Given the description of an element on the screen output the (x, y) to click on. 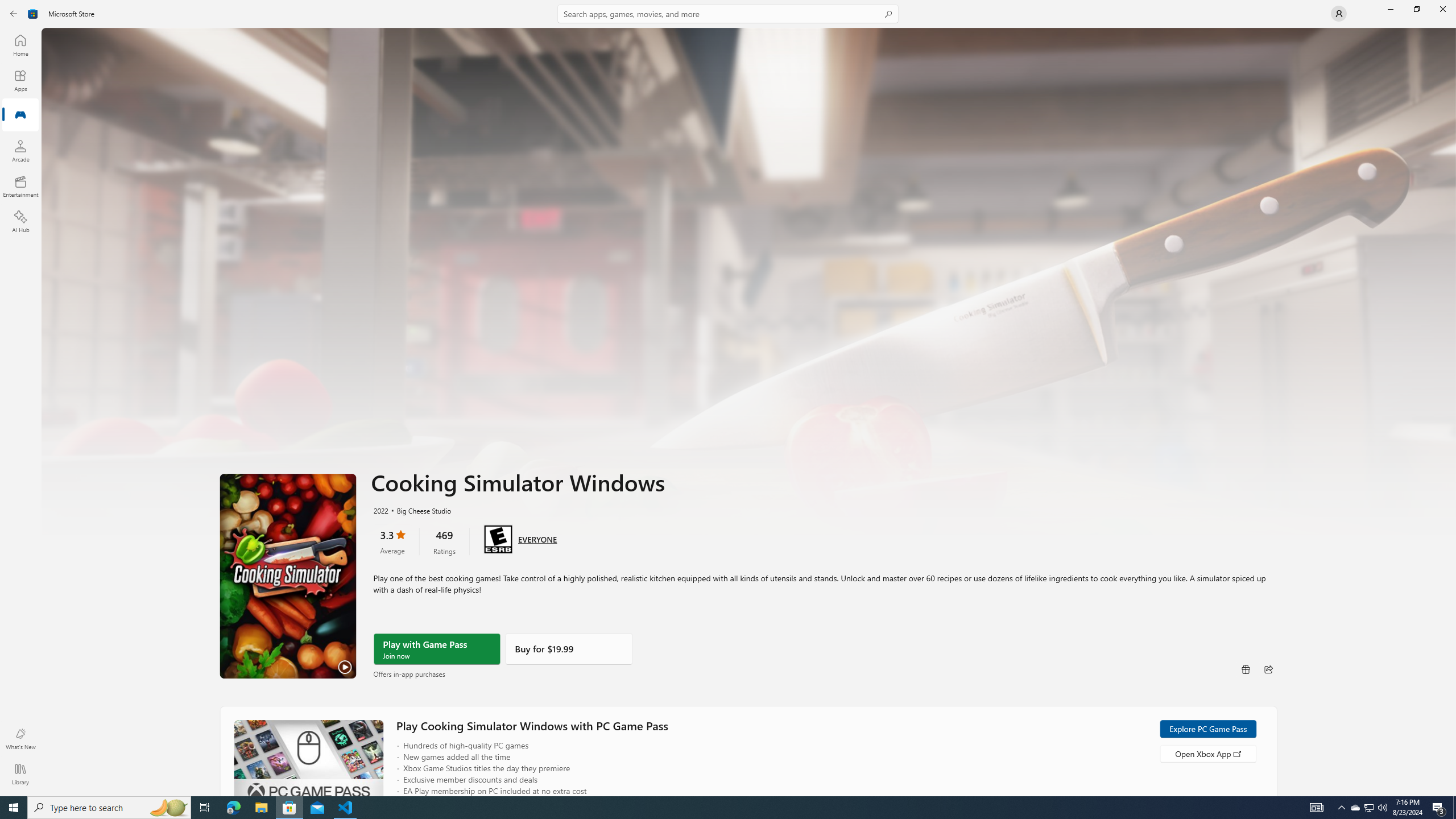
2022 (379, 510)
Library (20, 773)
3.3 stars. Click to skip to ratings and reviews (392, 541)
Open Xbox App (1207, 753)
What's New (20, 738)
Age rating: EVERYONE. Click for more information. (537, 538)
Class: Image (32, 13)
User profile (1338, 13)
Back (13, 13)
Buy (568, 649)
Search (727, 13)
AI Hub (20, 221)
